Given the description of an element on the screen output the (x, y) to click on. 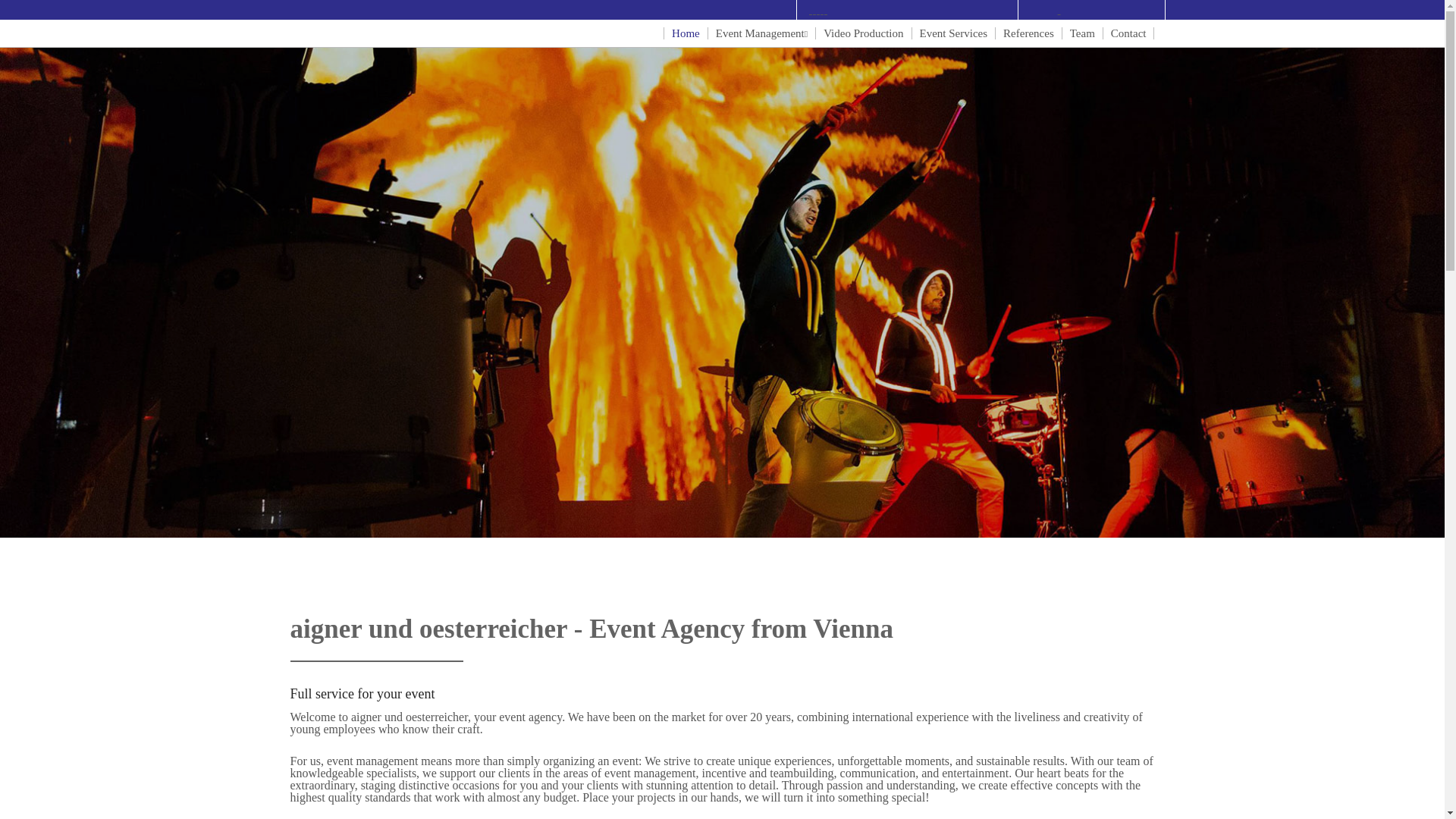
Event Management (761, 33)
References (1028, 33)
Team (1082, 33)
Home (685, 33)
Contact (1128, 33)
Video Production (863, 33)
Event Services (953, 33)
